Given the description of an element on the screen output the (x, y) to click on. 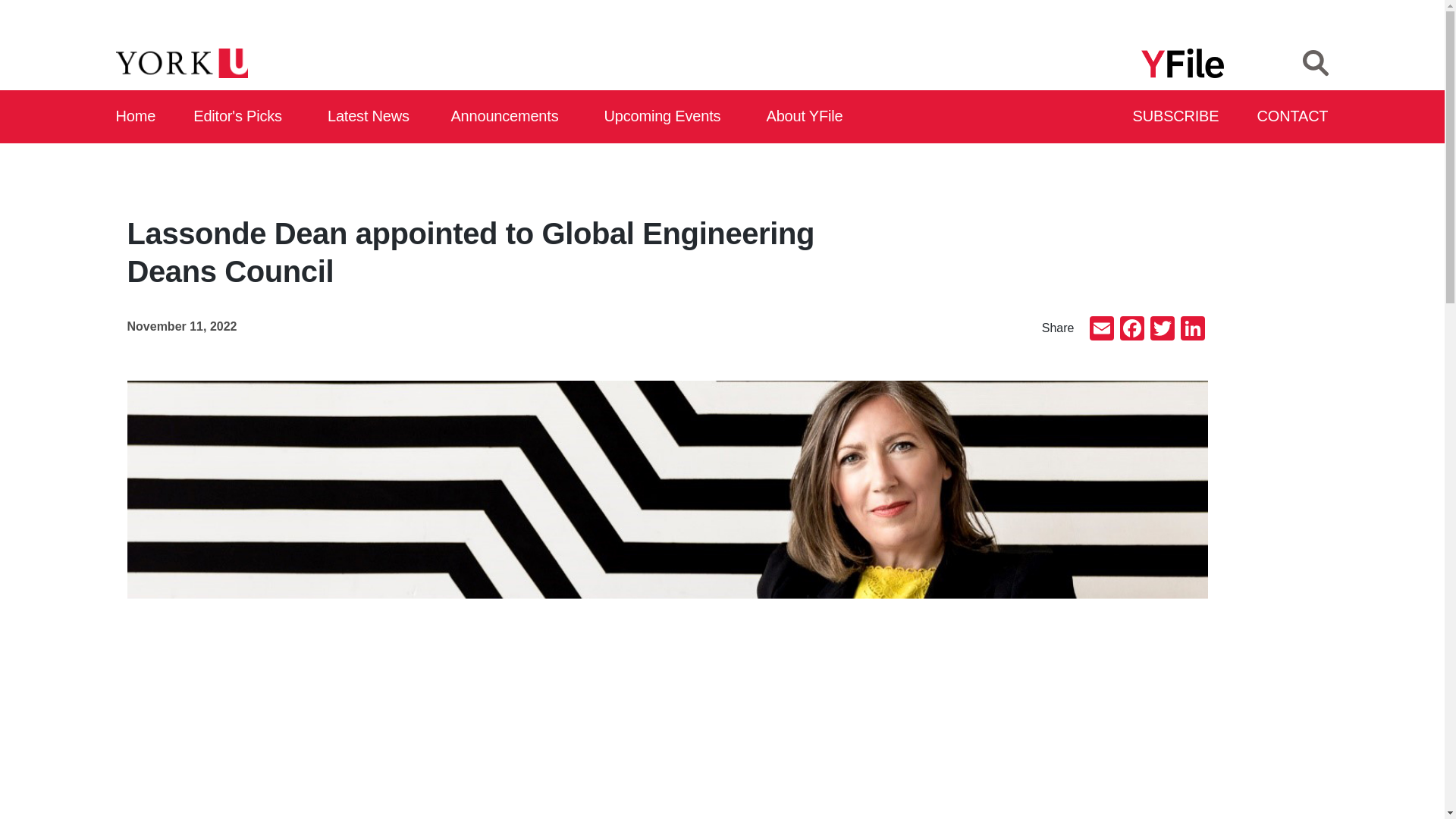
Upcoming Events (667, 116)
LinkedIn (1191, 329)
Editor's Picks (242, 116)
Twitter (1161, 329)
Latest News (370, 116)
Announcements (508, 116)
Subscribe (1176, 116)
Facebook (1131, 329)
Twitter (1161, 329)
LinkedIn (1191, 329)
